Given the description of an element on the screen output the (x, y) to click on. 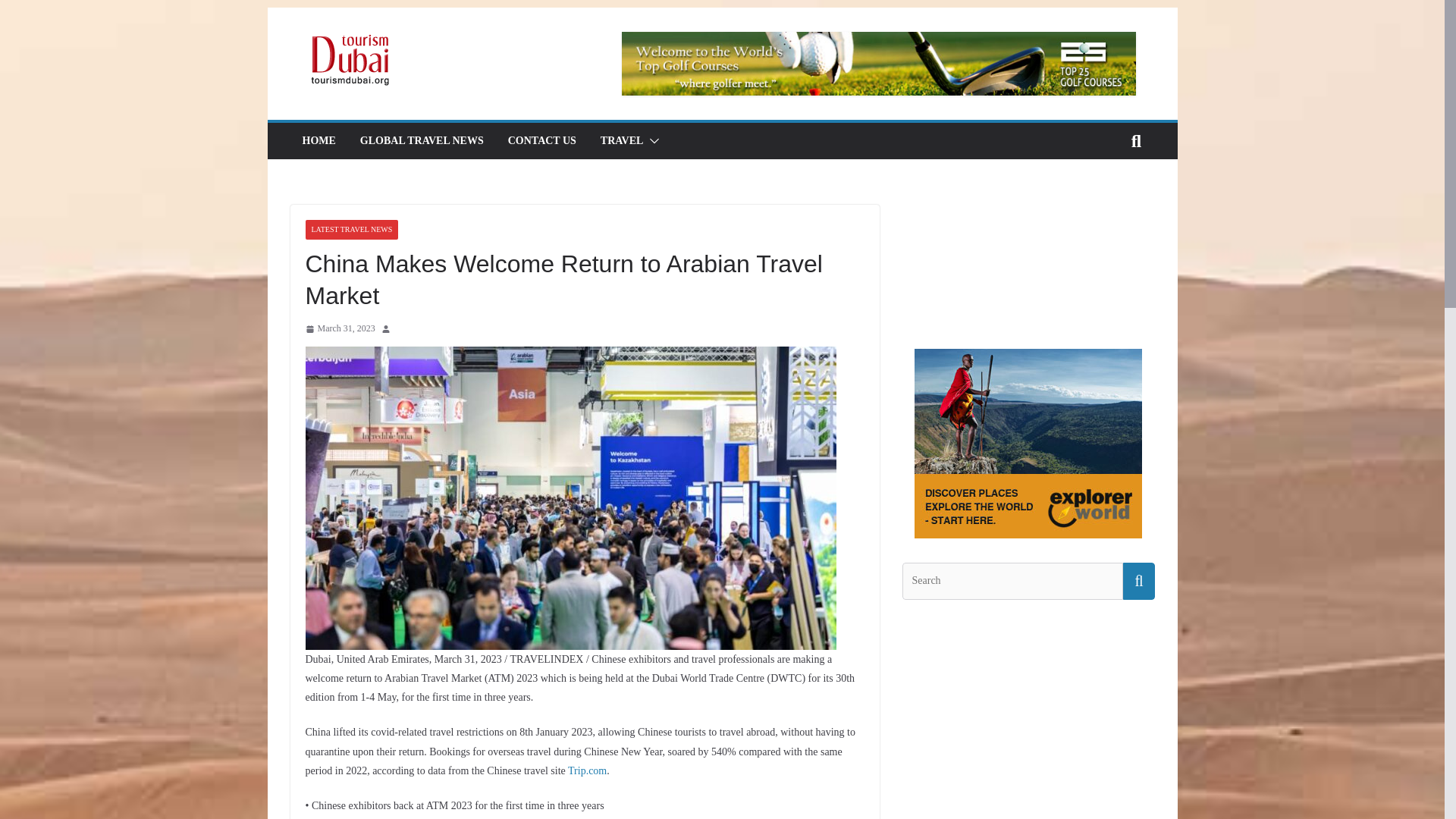
HOME (317, 140)
2:47 am (339, 329)
GLOBAL TRAVEL NEWS (421, 140)
March 31, 2023 (339, 329)
CONTACT US (542, 140)
TRAVEL (621, 140)
LATEST TRAVEL NEWS (350, 229)
Trip.com (587, 770)
